Given the description of an element on the screen output the (x, y) to click on. 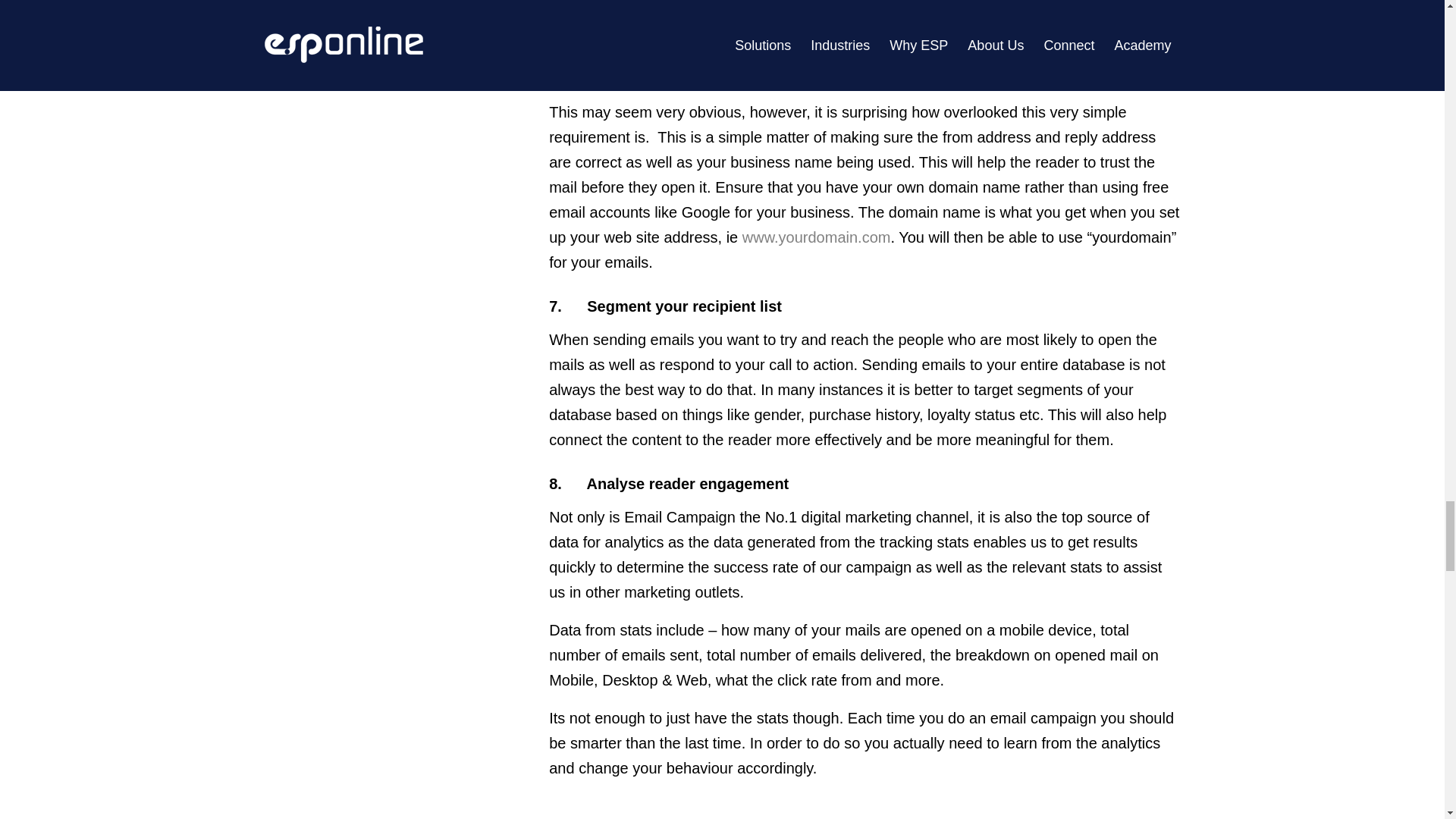
www.yourdomain.com (816, 237)
